Given the description of an element on the screen output the (x, y) to click on. 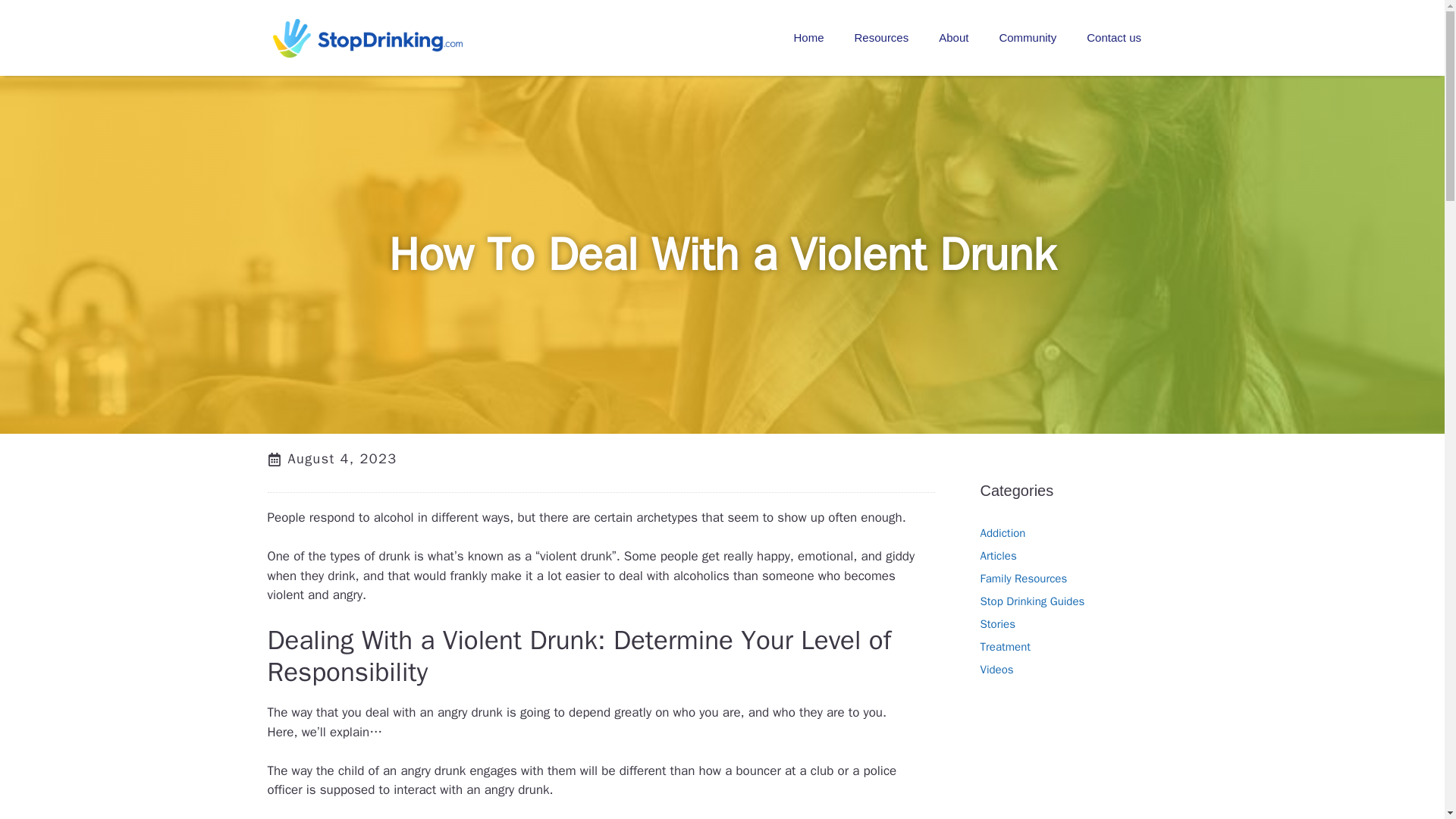
Articles (997, 555)
Home (807, 37)
About (953, 37)
Contact us (1113, 37)
Family Resources (1023, 578)
Addiction (1002, 532)
Treatment (1004, 646)
Videos (996, 669)
Stories (996, 623)
Resources (882, 37)
Community (1027, 37)
Stop Drinking Guides (1031, 601)
